Given the description of an element on the screen output the (x, y) to click on. 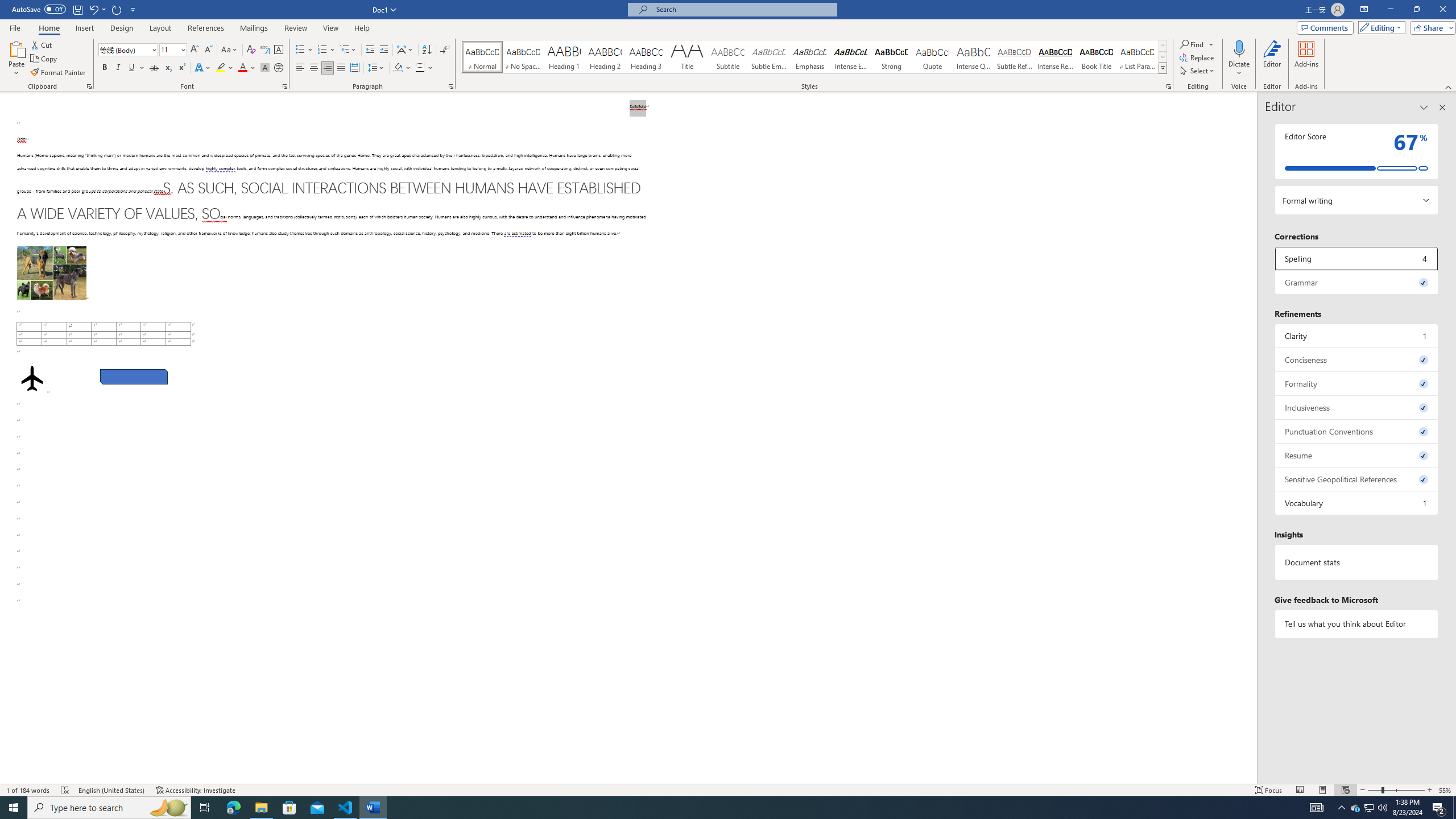
Font Color Red (241, 67)
Emphasis (809, 56)
